Given the description of an element on the screen output the (x, y) to click on. 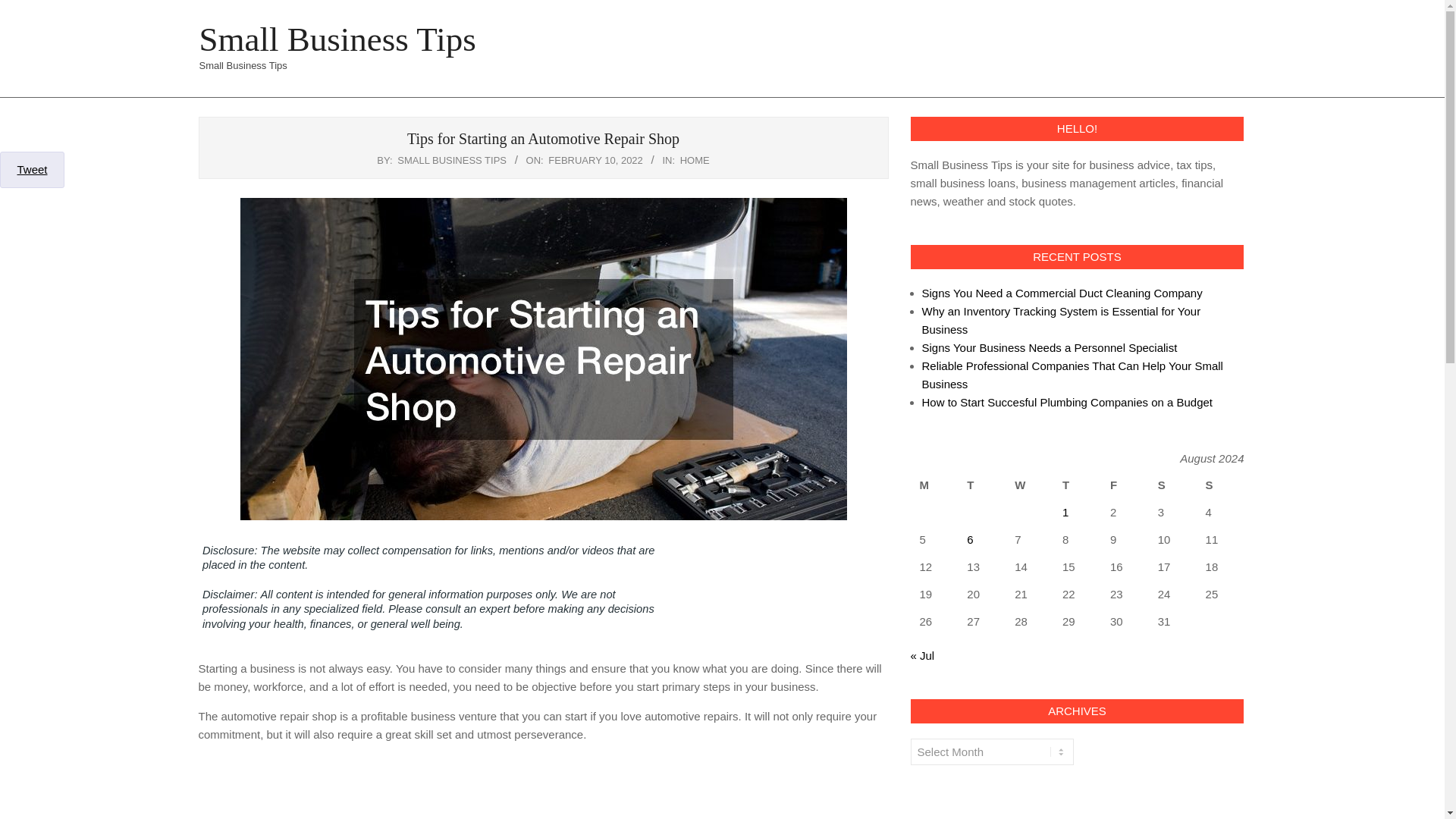
Signs Your Business Needs a Personnel Specialist (1049, 347)
Wednesday (1029, 484)
Posts by Small Business Tips (451, 160)
Signs You Need a Commercial Duct Cleaning Company (1061, 292)
Thursday, February 10, 2022, 3:13 pm (595, 160)
How to Start Succesful Plumbing Companies on a Budget (1066, 401)
Thursday (1076, 484)
Tweet (31, 169)
